Given the description of an element on the screen output the (x, y) to click on. 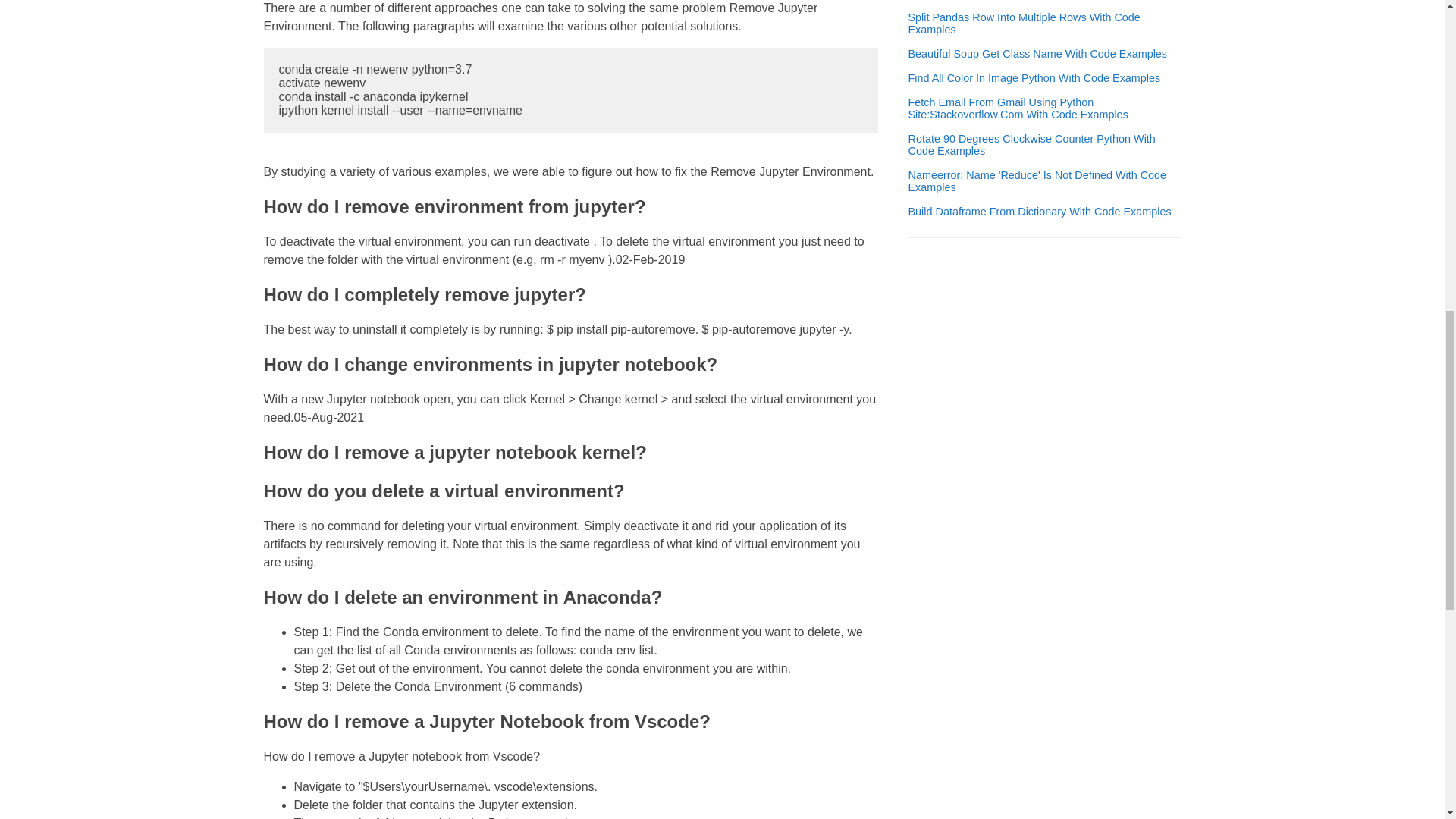
Split Pandas Row Into Multiple Rows With Code Examples (1044, 23)
Nameerror: Name 'Reduce' Is Not Defined With Code Examples (1044, 180)
Beautiful Soup Get Class Name With Code Examples (1037, 53)
Find All Color In Image Python With Code Examples (1034, 78)
Build Dataframe From Dictionary With Code Examples (1040, 211)
